Given the description of an element on the screen output the (x, y) to click on. 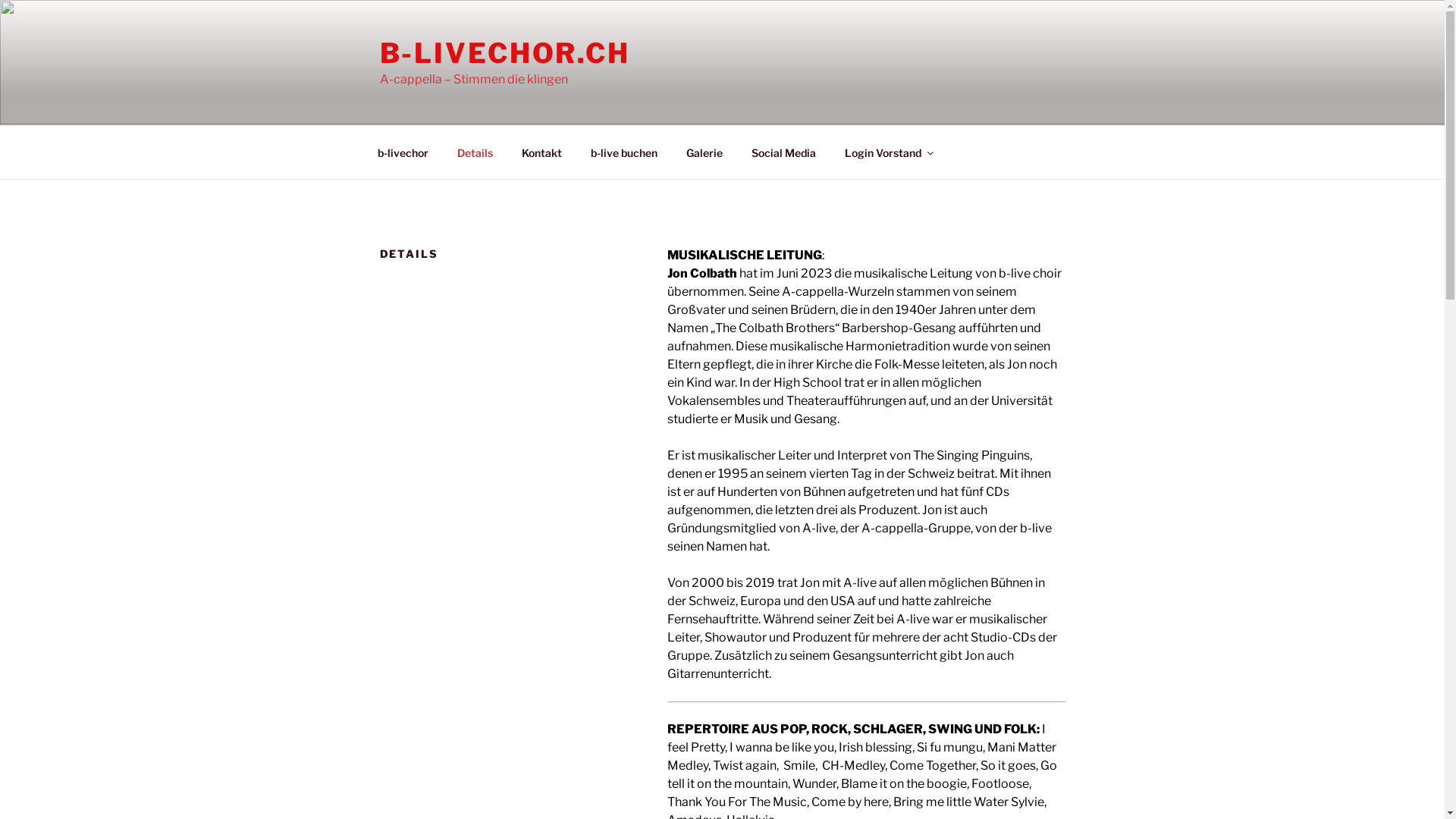
Social Media Element type: text (783, 151)
Login Vorstand Element type: text (887, 151)
Kontakt Element type: text (541, 151)
b-live buchen Element type: text (624, 151)
Galerie Element type: text (704, 151)
Zum Inhalt springen Element type: text (0, 0)
b-livechor Element type: text (402, 151)
Details Element type: text (475, 151)
B-LIVECHOR.CH Element type: text (504, 52)
